Given the description of an element on the screen output the (x, y) to click on. 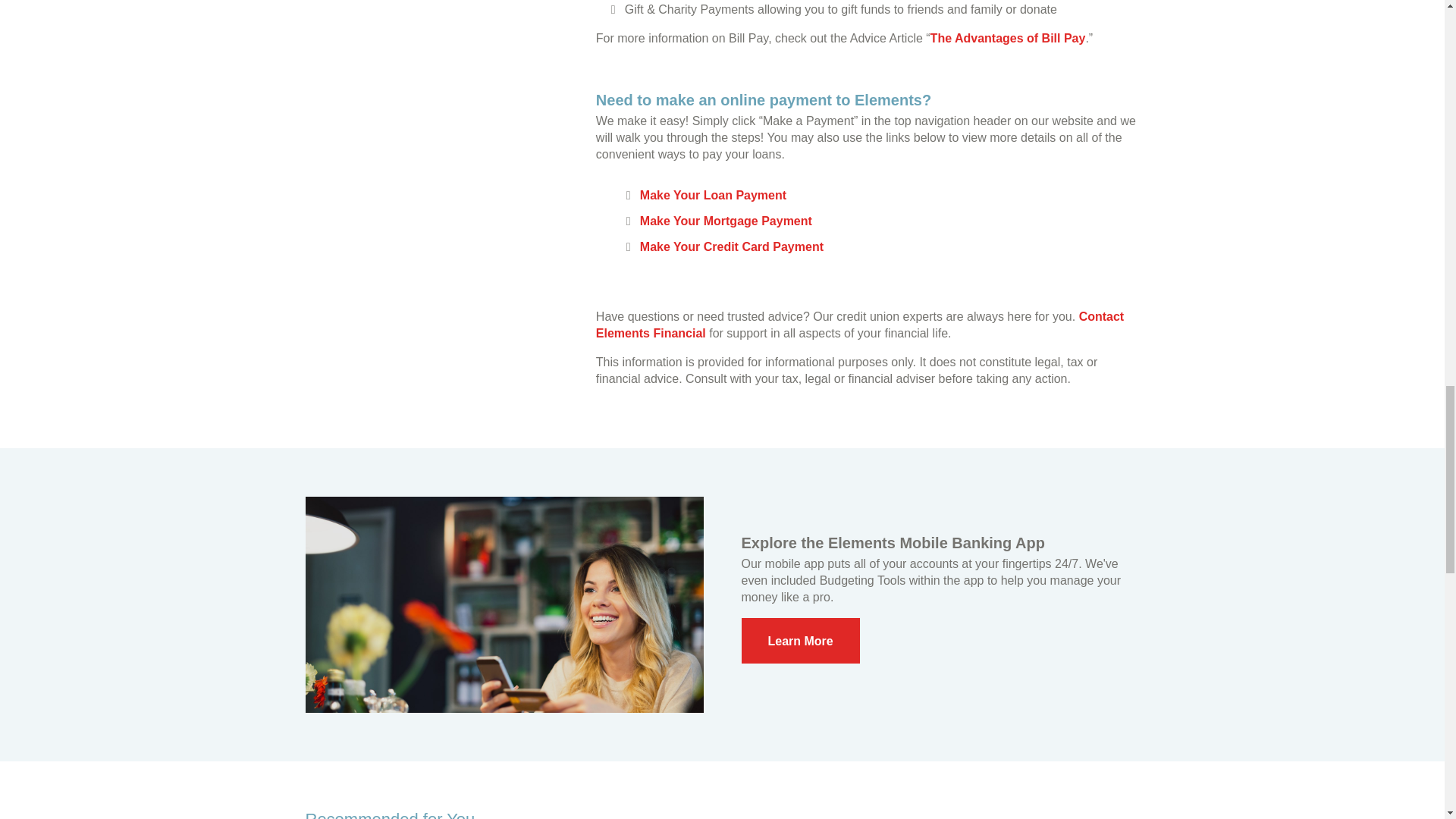
Contact Us (859, 324)
